Given the description of an element on the screen output the (x, y) to click on. 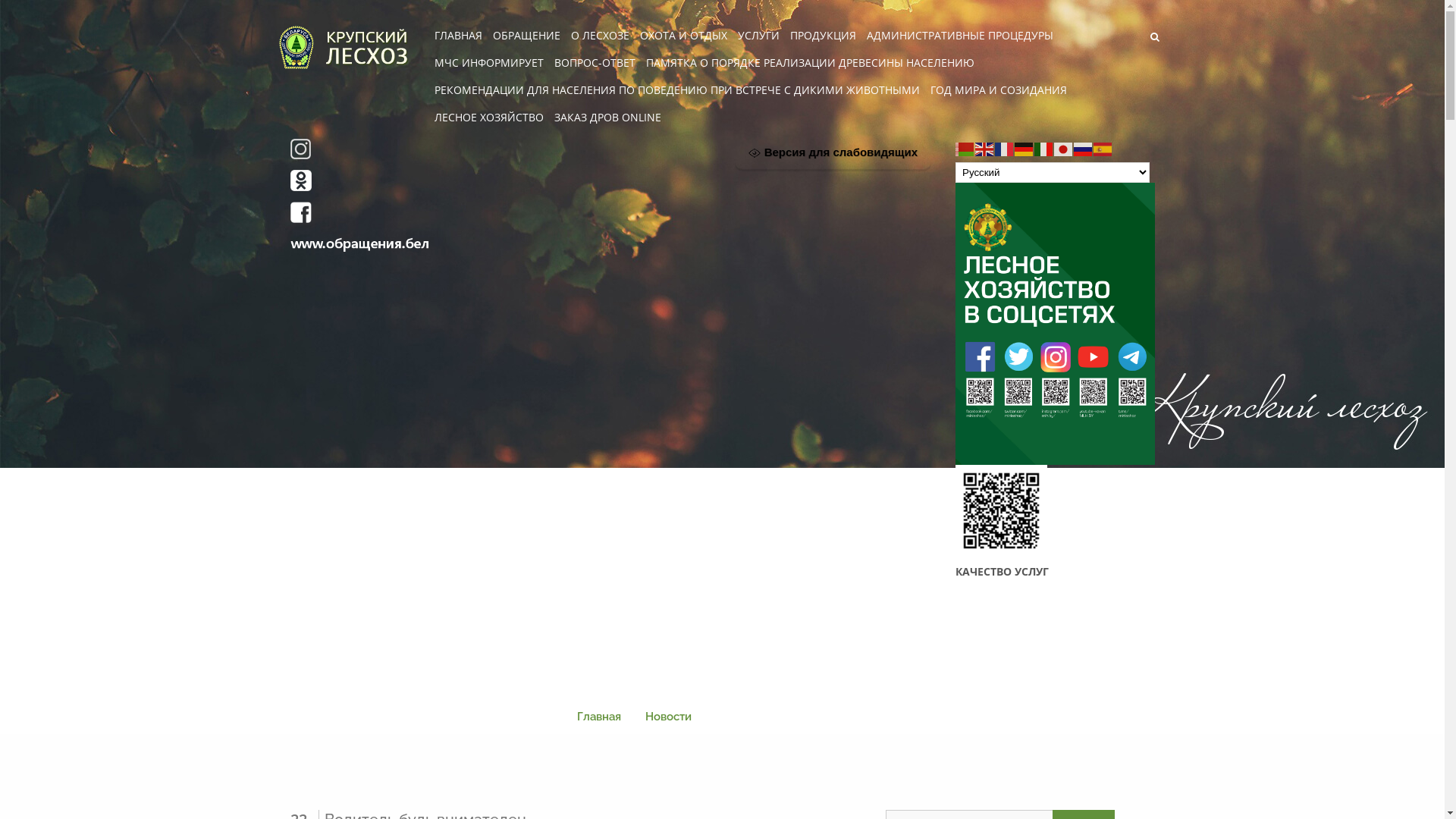
Deutsch Element type: hover (1024, 148)
English Element type: hover (984, 148)
Italiano Element type: hover (1044, 148)
